Given the description of an element on the screen output the (x, y) to click on. 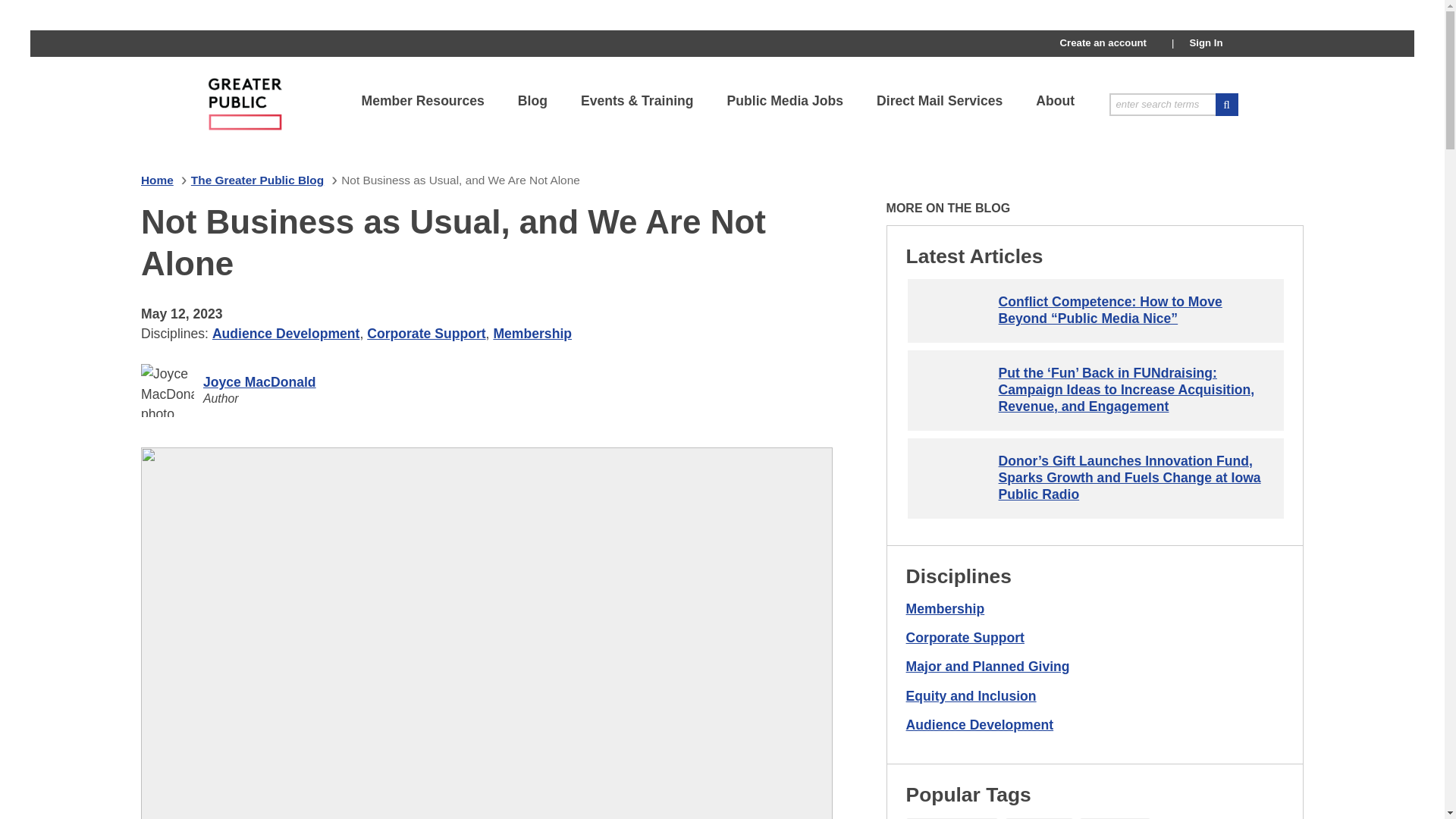
Public Media Jobs (785, 100)
Member Resources (422, 100)
Create an account (1103, 42)
Sign In (1206, 42)
Blog (532, 100)
About (1054, 100)
Direct Mail Services (939, 100)
